Given the description of an element on the screen output the (x, y) to click on. 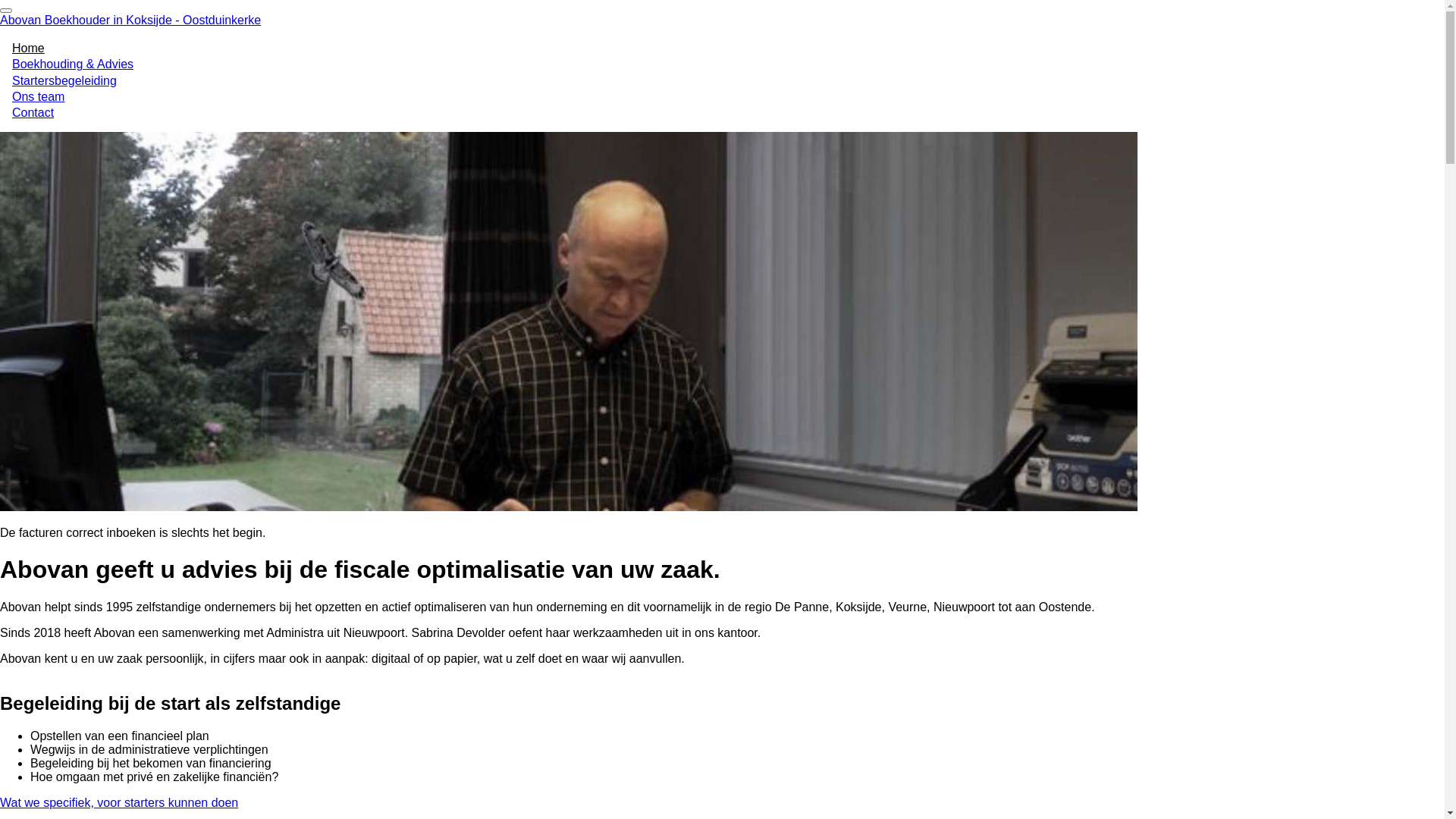
Startersbegeleiding Element type: text (64, 80)
Ons team Element type: text (38, 96)
Boekhouding & Advies Element type: text (72, 63)
Home Element type: text (28, 47)
Wat we specifiek, voor starters kunnen doen Element type: text (119, 802)
Abovan Boekhouder in Koksijde - Oostduinkerke Element type: text (130, 19)
Contact Element type: text (32, 112)
